Given the description of an element on the screen output the (x, y) to click on. 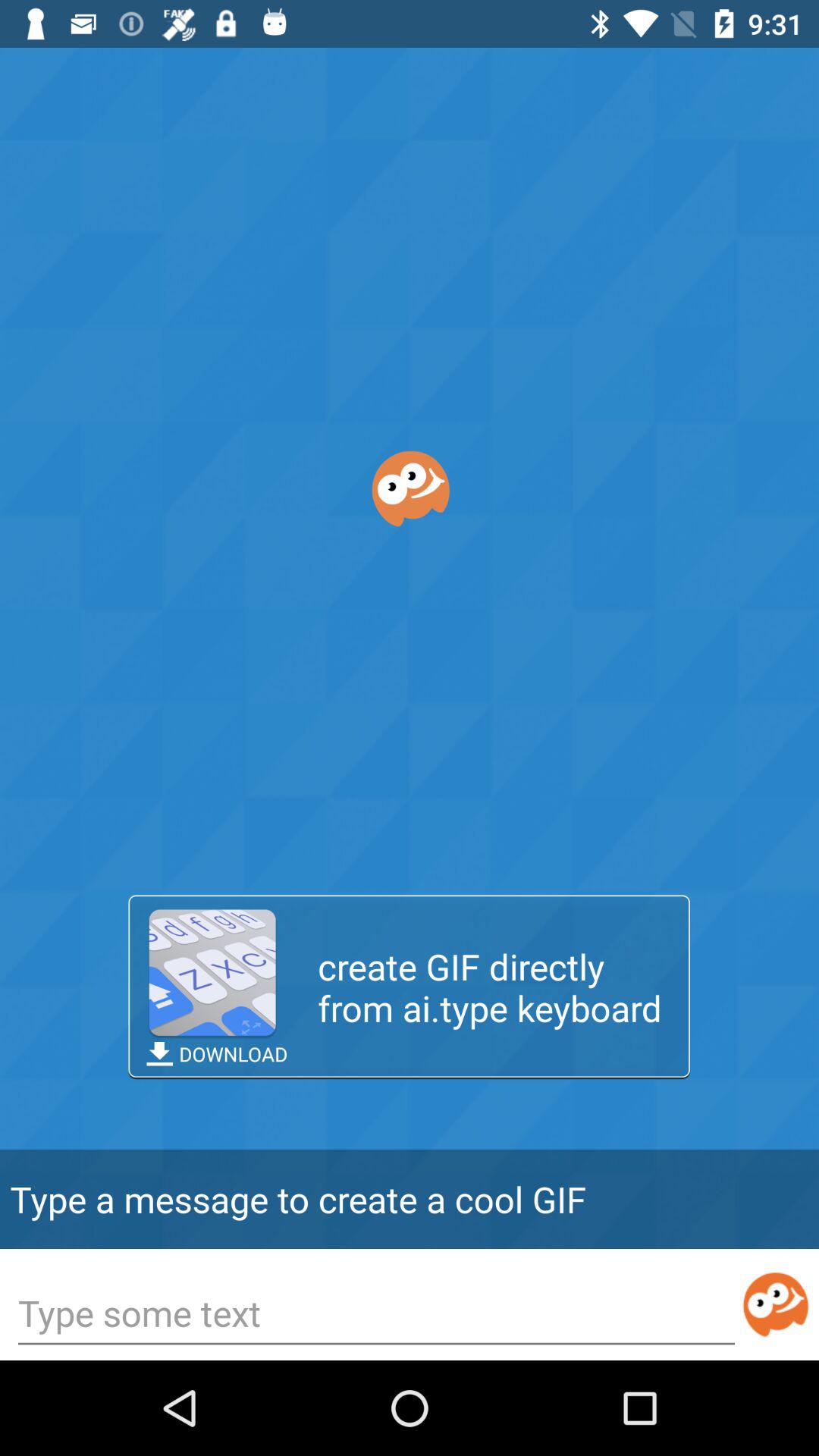
submit text (775, 1304)
